Given the description of an element on the screen output the (x, y) to click on. 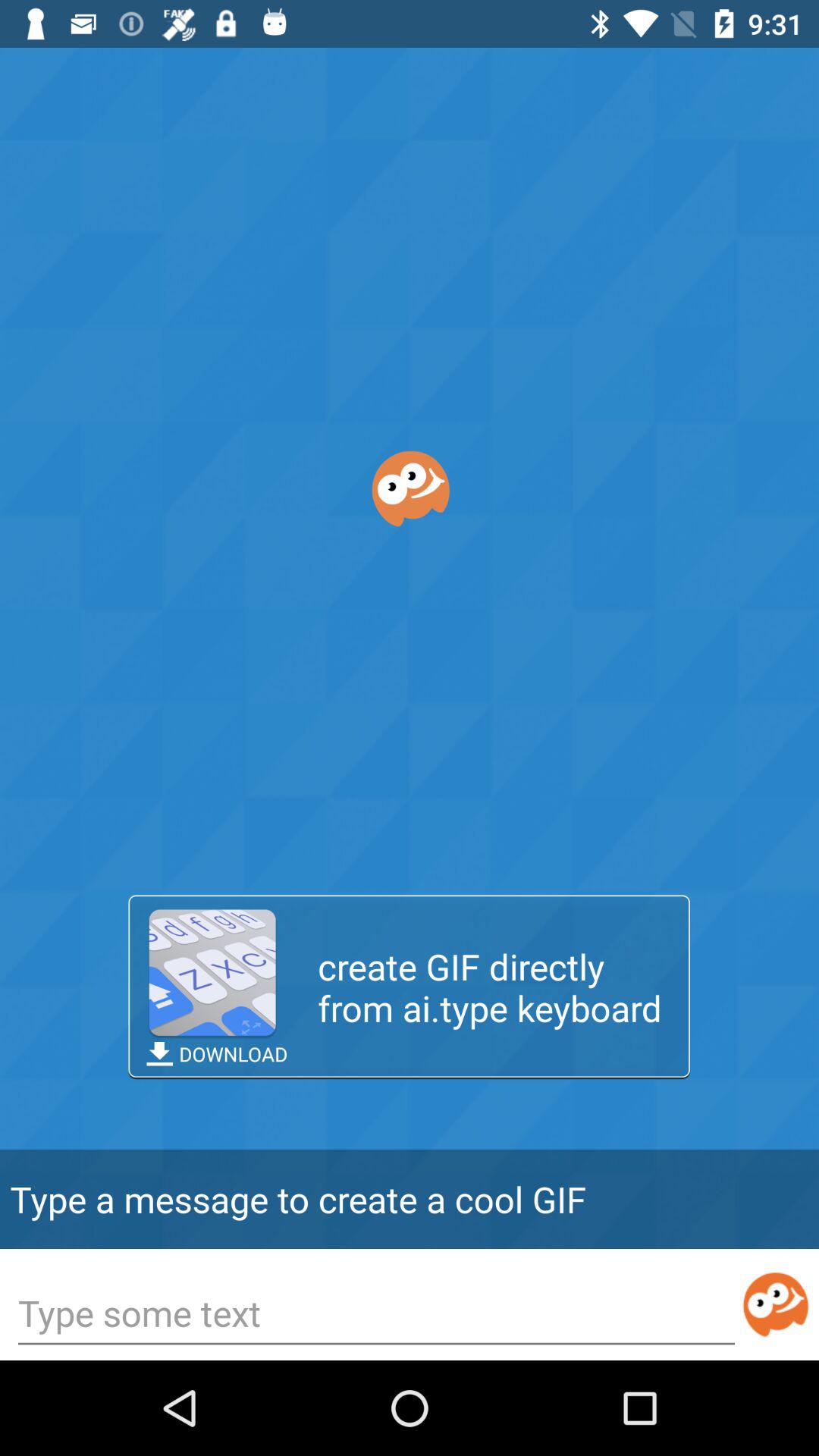
submit text (775, 1304)
